Given the description of an element on the screen output the (x, y) to click on. 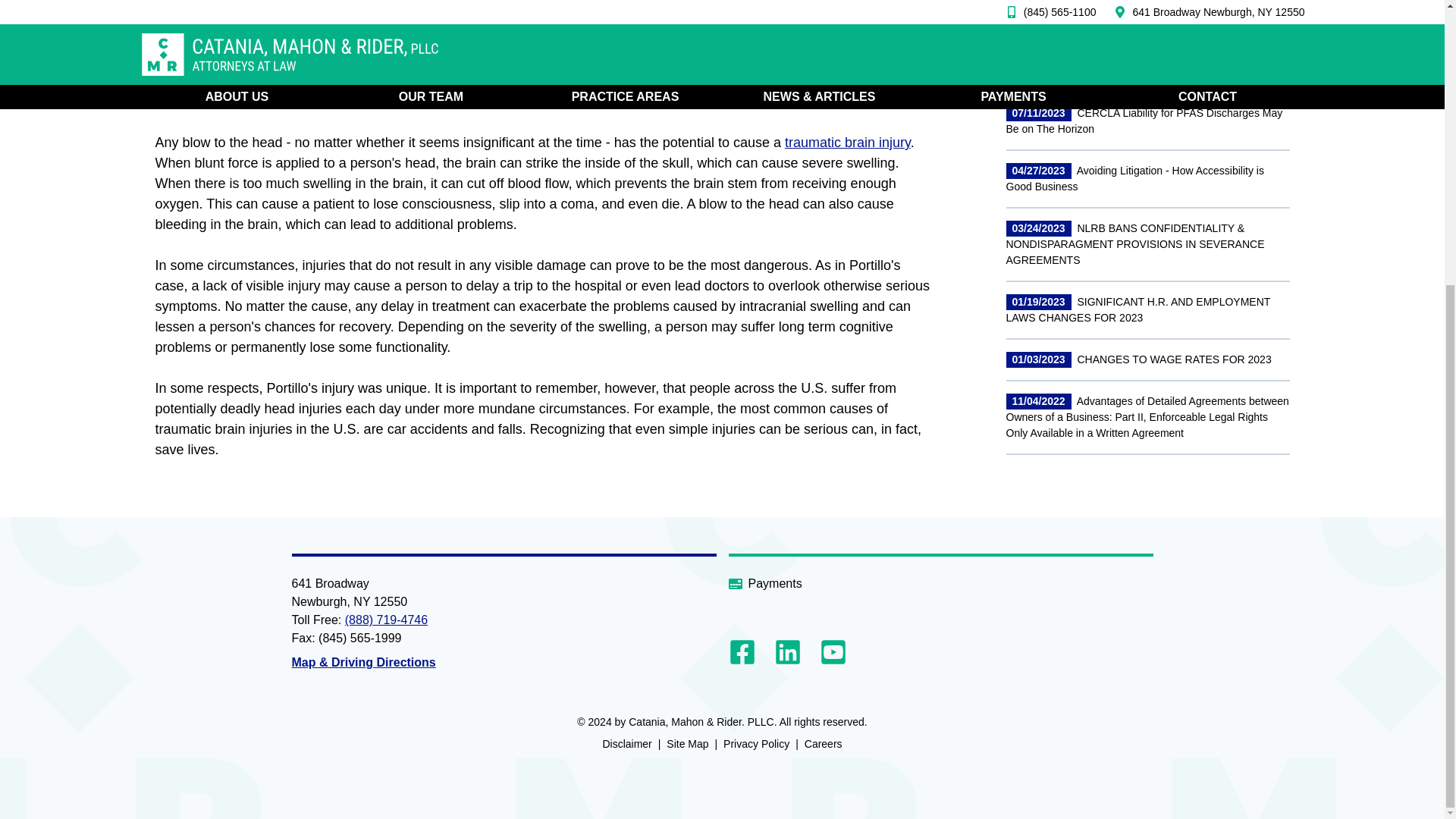
Link to Careers Page (824, 743)
Link to CMR Payments Page (940, 583)
Link to Page with Driving Directions (363, 662)
Site Map (686, 743)
Careers (824, 743)
Privacy Policy (756, 743)
Link to Disclaimer Page (626, 743)
CMR Toll-Free Phone Number (386, 619)
traumatic brain injury (847, 142)
Disclaimer (626, 743)
Payments (940, 583)
Link to Privacy Policy Page (756, 743)
Link to Site Map Page (686, 743)
